Given the description of an element on the screen output the (x, y) to click on. 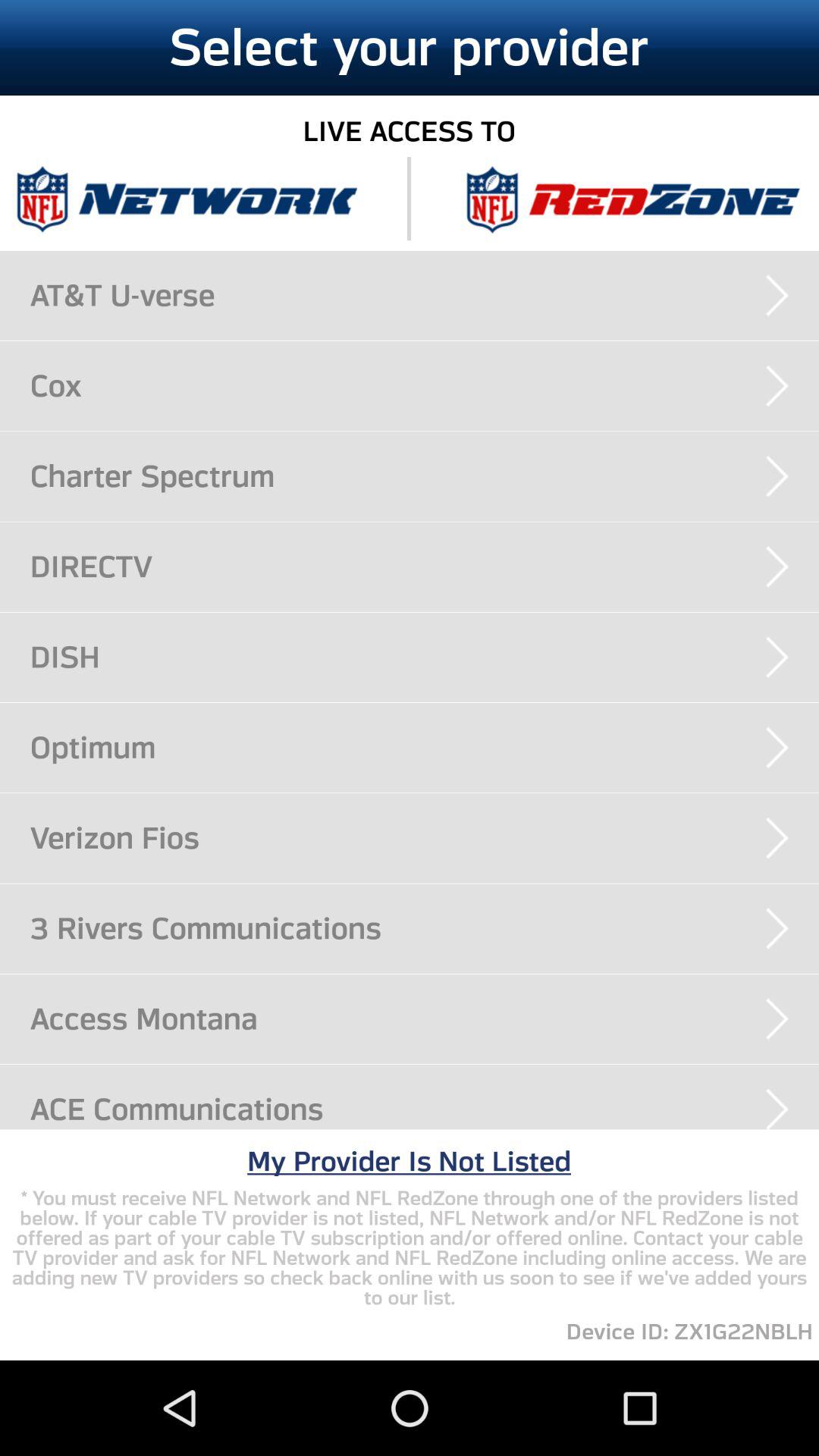
jump until the at t u item (424, 295)
